Given the description of an element on the screen output the (x, y) to click on. 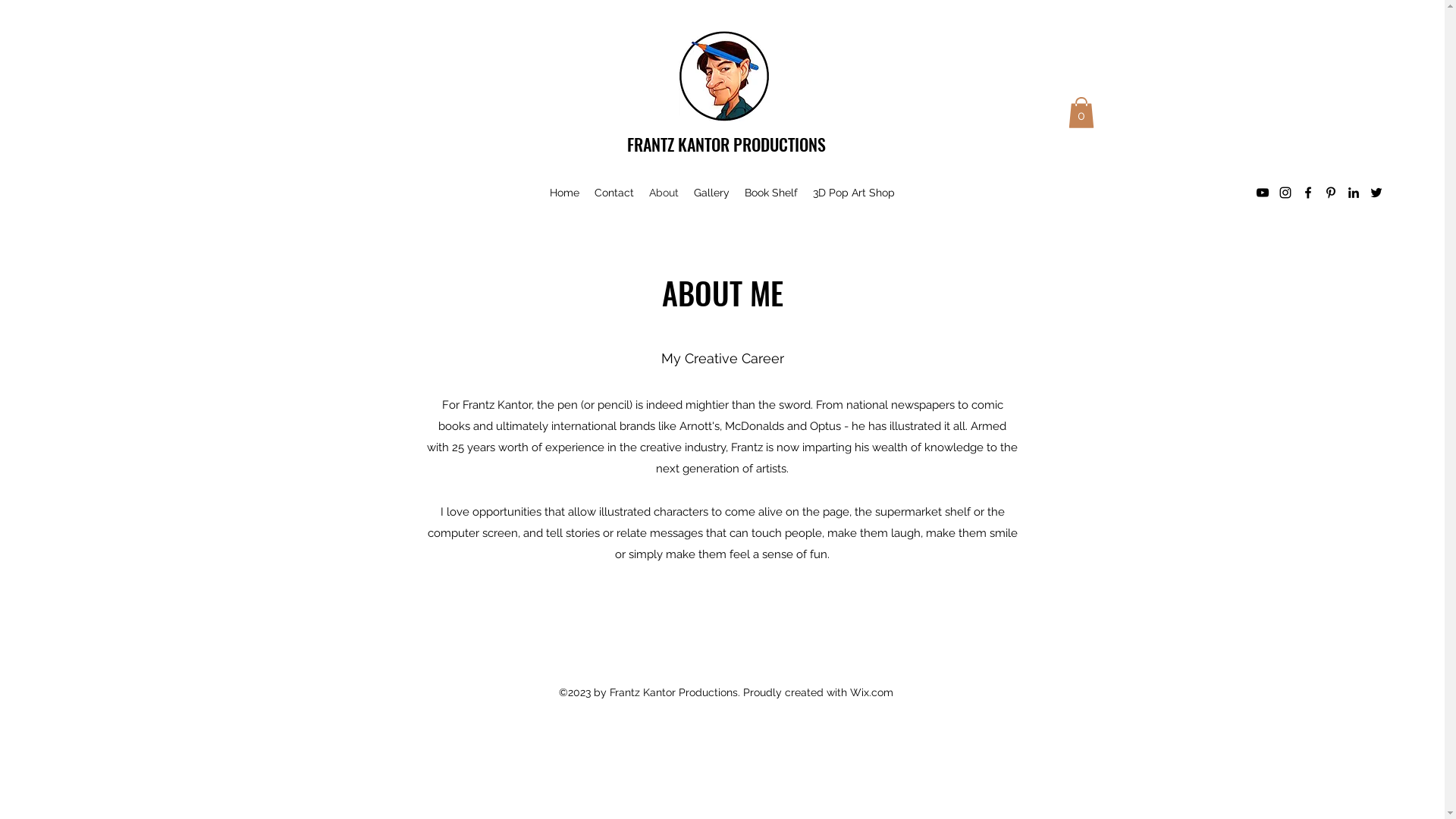
3D Pop Art Shop Element type: text (853, 192)
Gallery Element type: text (711, 192)
About Element type: text (663, 192)
Book Shelf Element type: text (771, 192)
0 Element type: text (1080, 112)
FRANTZ KANTOR PRODUCTIONS Element type: text (726, 143)
Contact Element type: text (613, 192)
Home Element type: text (564, 192)
